Given the description of an element on the screen output the (x, y) to click on. 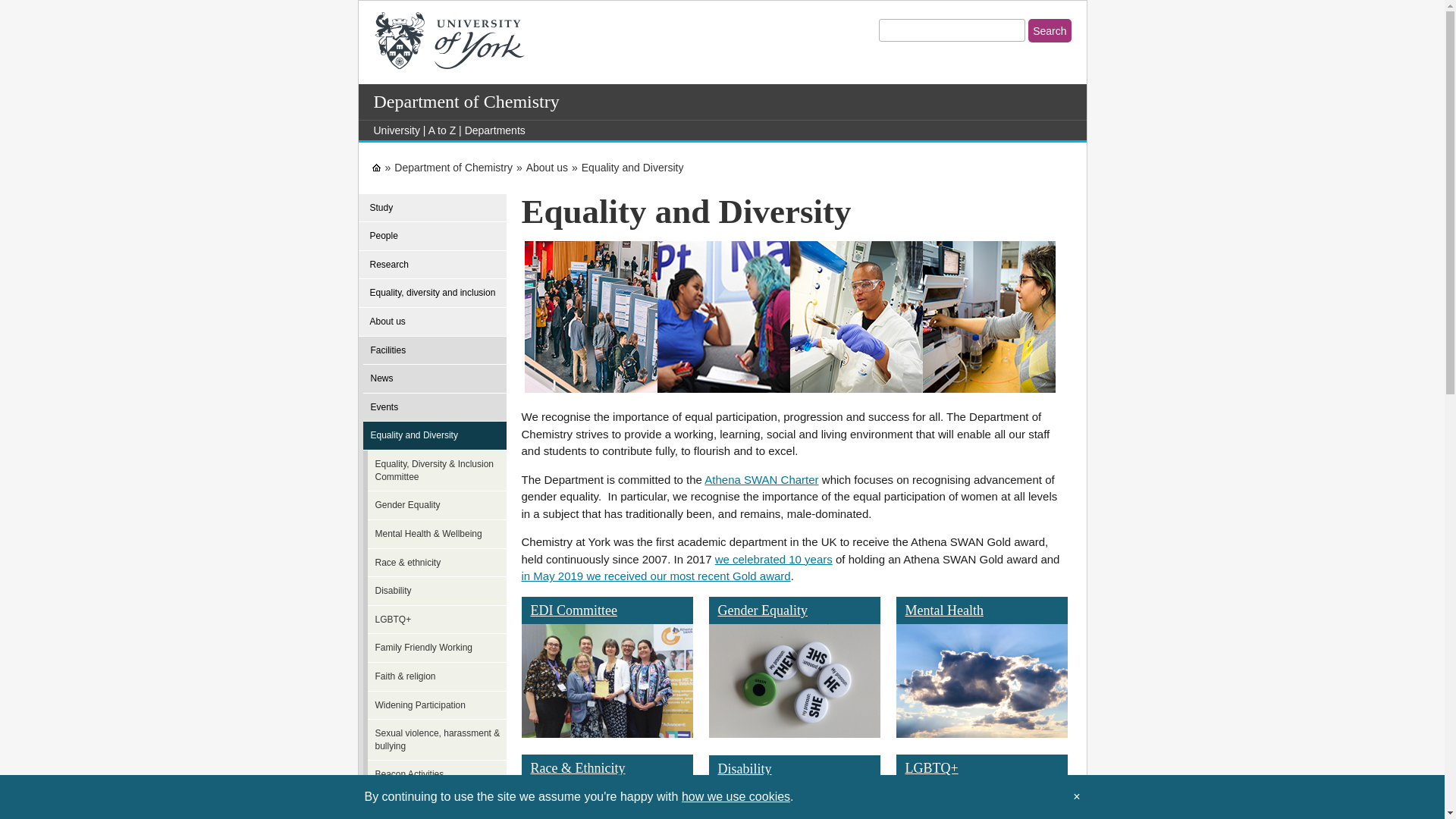
People (432, 235)
Resources and Reports (440, 803)
Facilities (436, 350)
Image of pronoun buttons (793, 680)
Rainbow flag waving over blue sky background (981, 800)
Members of EDG celebrating Athena SWAN gold recognition (607, 680)
University homepage (395, 130)
Enter your search keywords (952, 29)
in May 2019 we received our most recent Gold award (655, 575)
University homepage (376, 167)
Study (432, 208)
Beacon Activities (440, 774)
Equality, diversity and inclusion (432, 293)
Image of sunlight from behind dark clouds (981, 680)
News (436, 378)
